Given the description of an element on the screen output the (x, y) to click on. 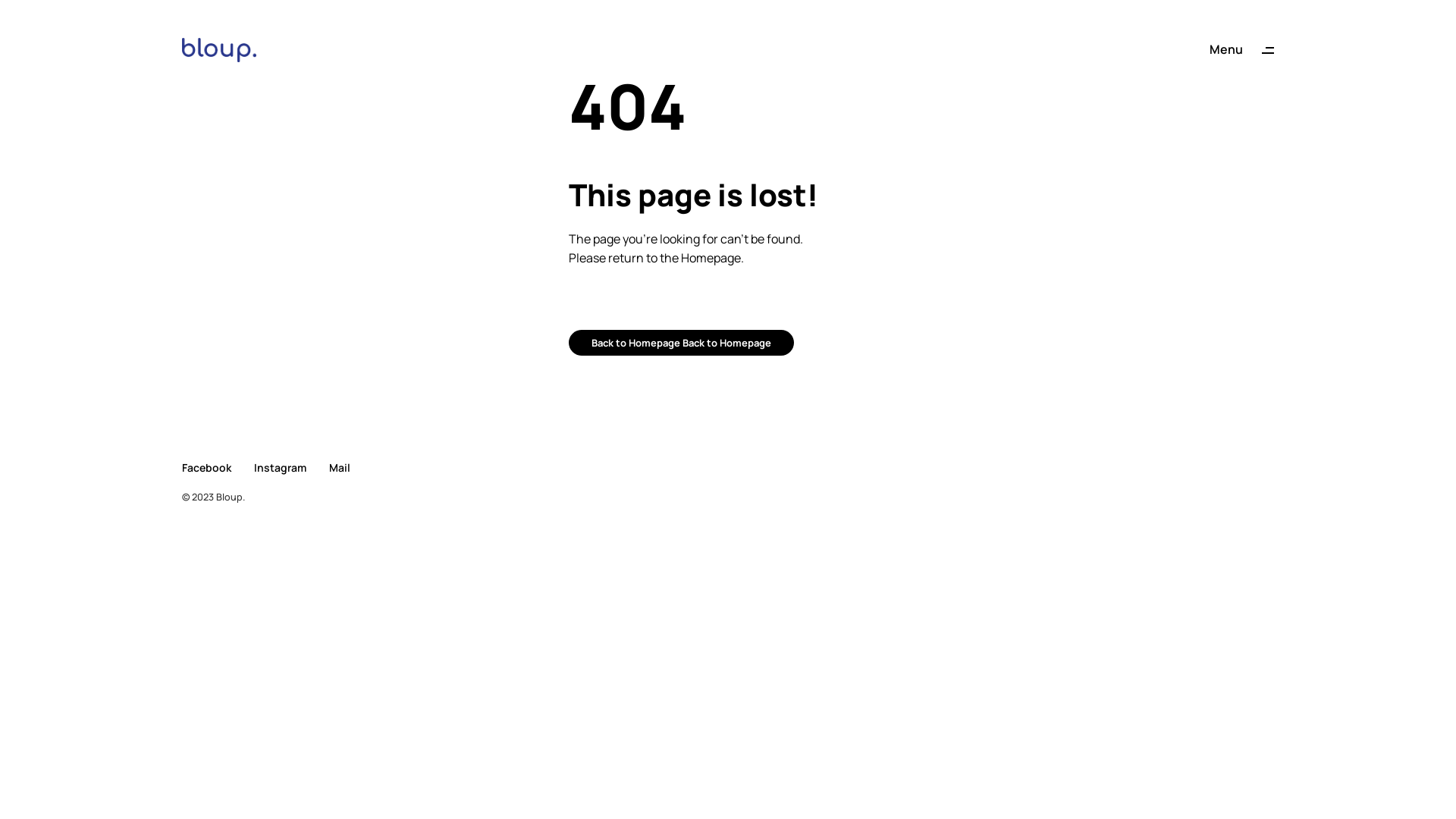
Back to Homepage Back to Homepage Element type: text (680, 342)
Facebook Element type: text (206, 467)
Instagram Element type: text (280, 467)
Mail Element type: text (339, 467)
